Given the description of an element on the screen output the (x, y) to click on. 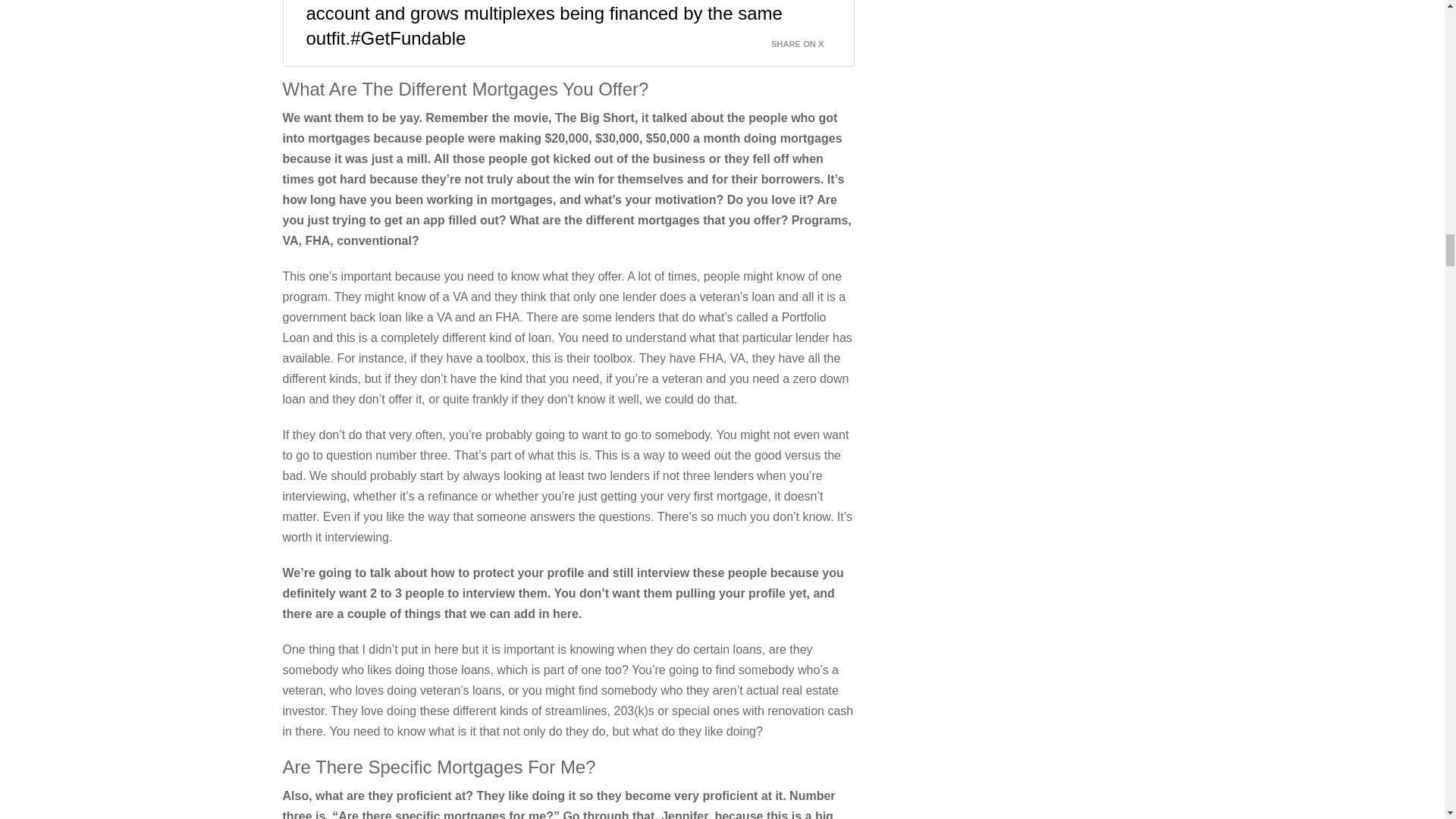
SHARE ON X (807, 39)
